Given the description of an element on the screen output the (x, y) to click on. 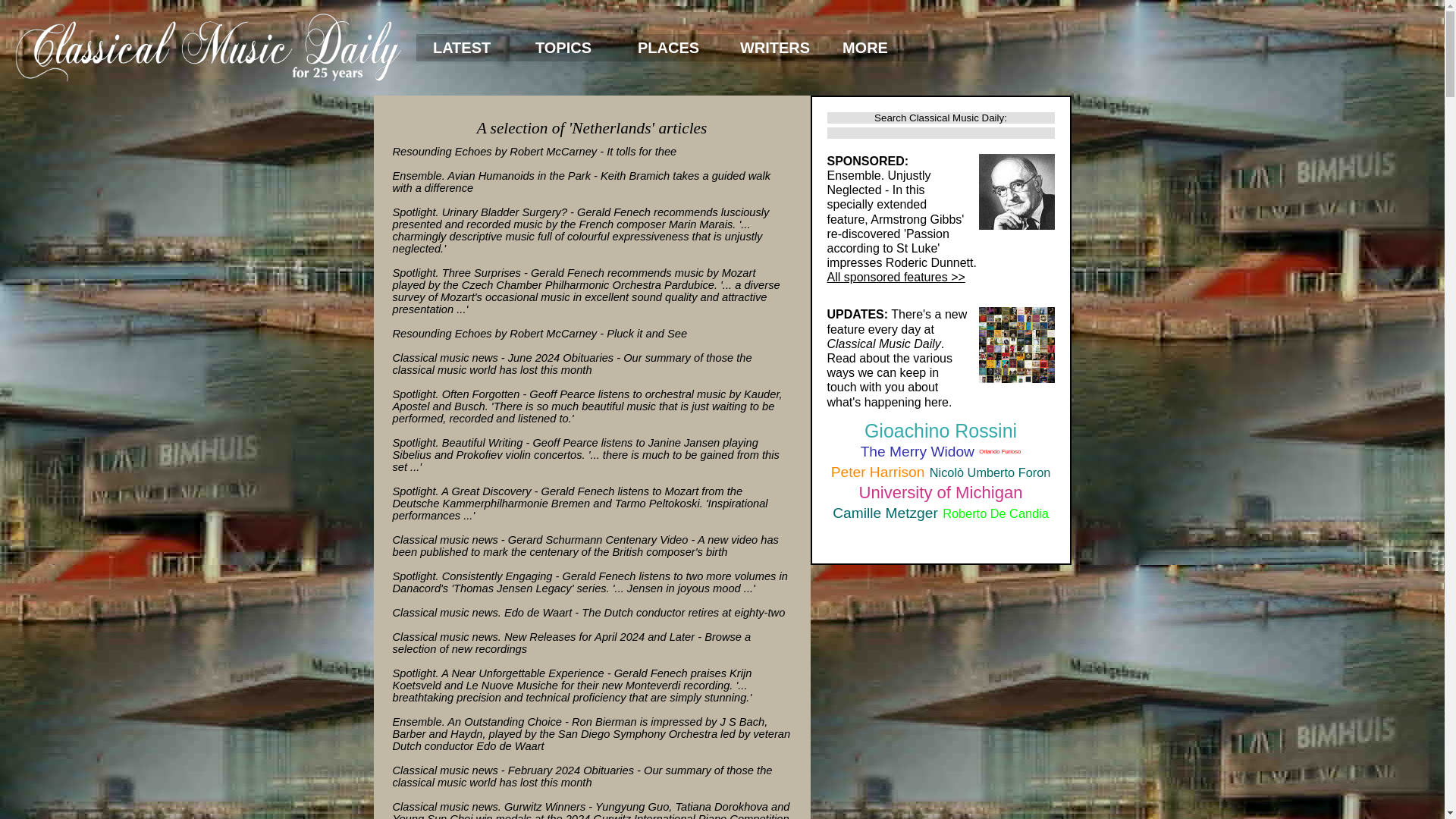
PLACES (672, 47)
Classical Music Daily (207, 47)
LATEST (467, 47)
TOPICS (569, 47)
Search Classical Music Daily: (940, 117)
